Given the description of an element on the screen output the (x, y) to click on. 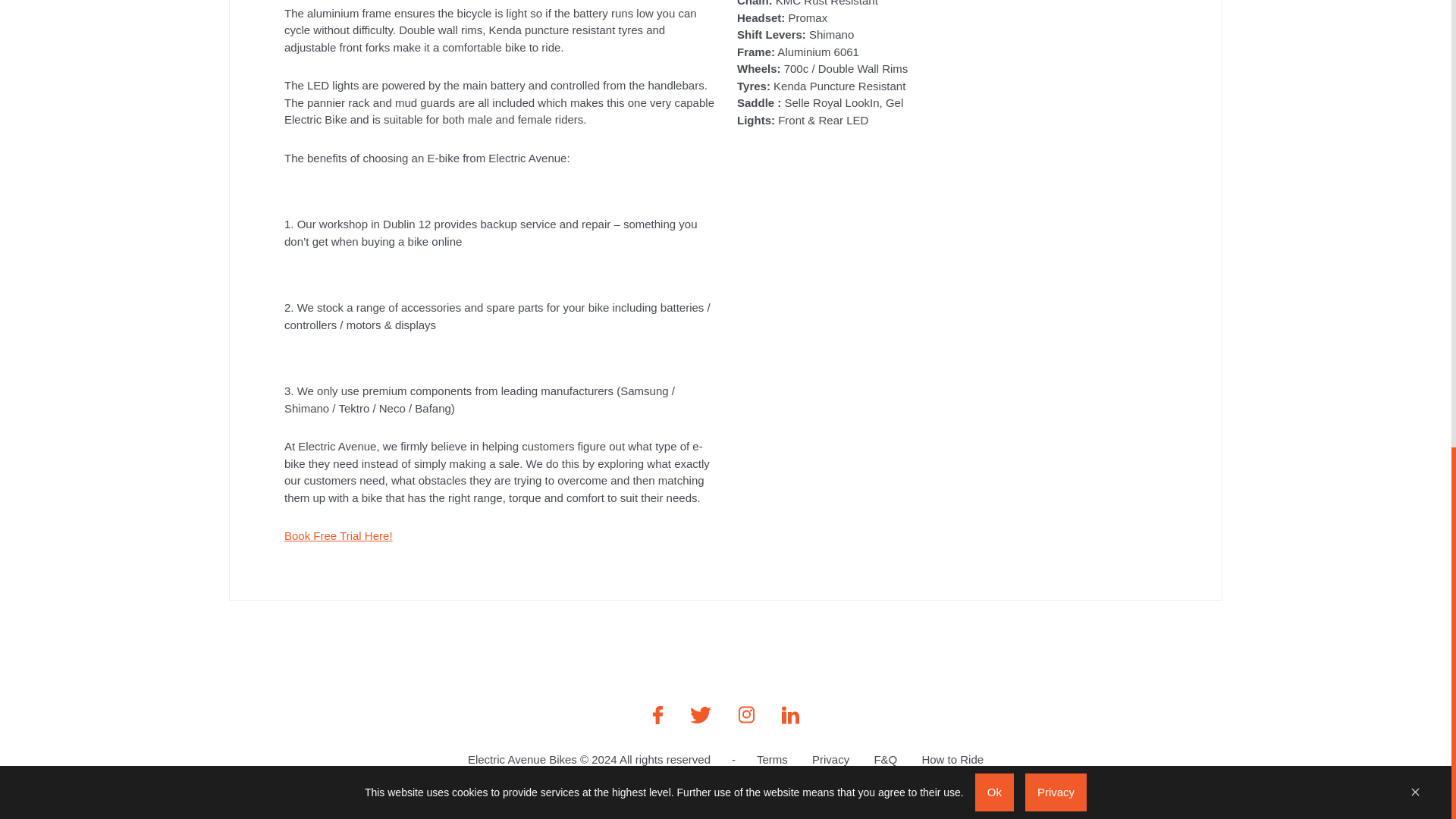
How to Ride (952, 758)
Privacy (830, 758)
Book Free Trial Here! (338, 535)
Terms (772, 758)
